Given the description of an element on the screen output the (x, y) to click on. 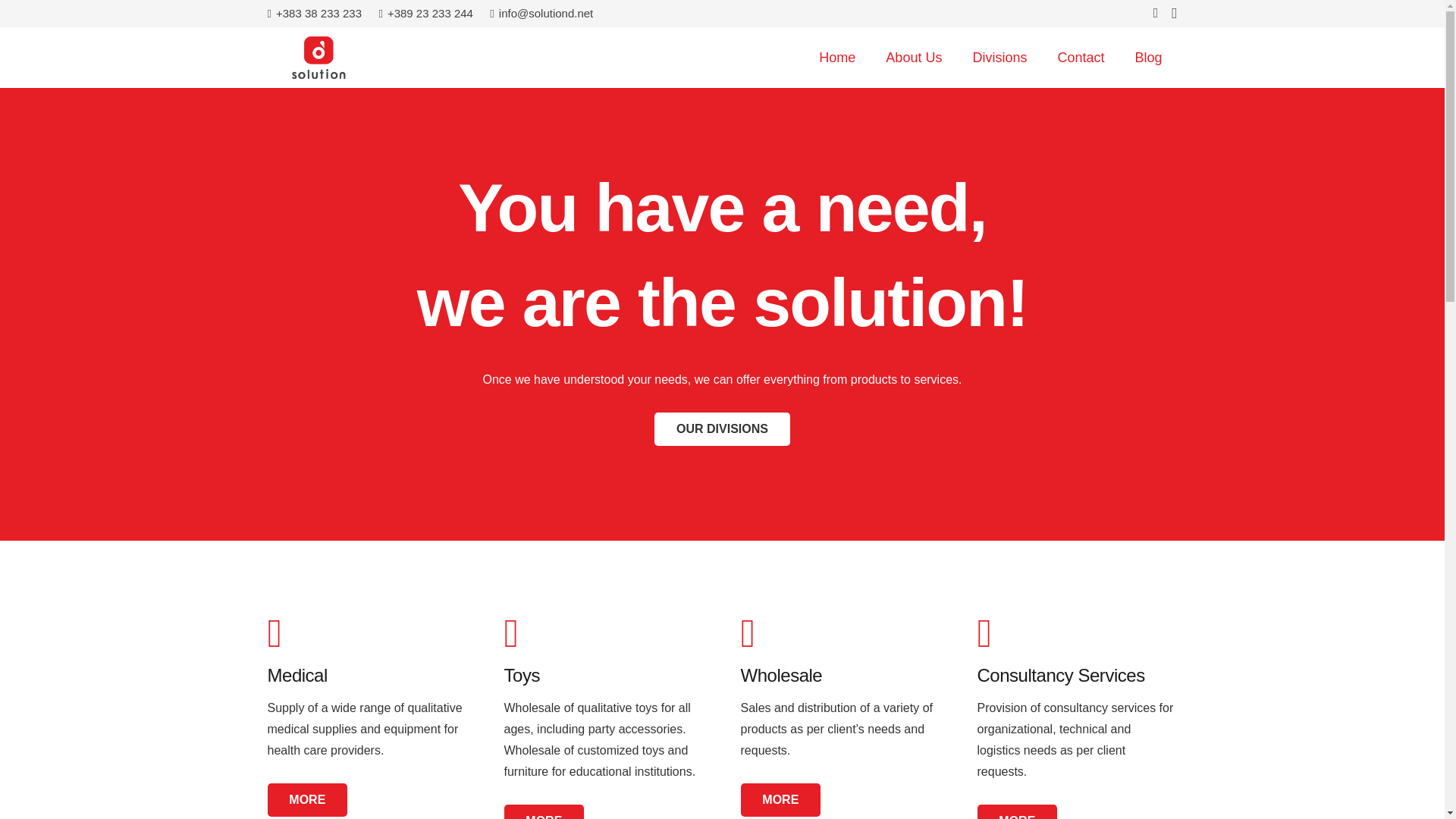
Home (836, 57)
Toys (603, 675)
Medical (306, 799)
Medical (366, 675)
Consultancy Services (1076, 675)
Wholesale (839, 675)
MORE (543, 811)
OUR DIVISIONS (721, 429)
Contact (1080, 57)
Wholesale (780, 799)
Toys (603, 633)
MORE (780, 799)
Medical (366, 675)
Facebook (768, 632)
Toys (603, 675)
